Given the description of an element on the screen output the (x, y) to click on. 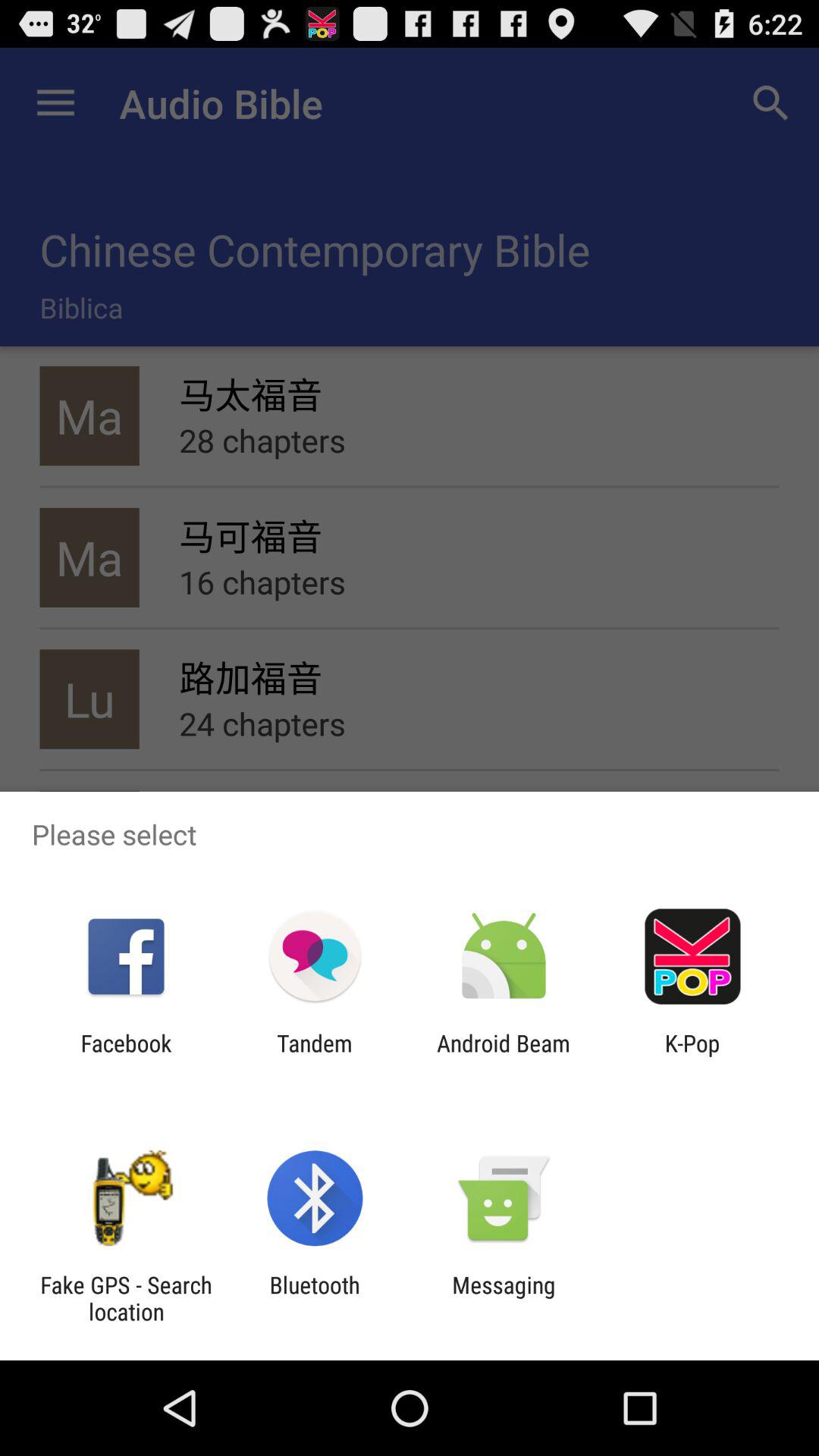
turn off the item next to the bluetooth icon (503, 1298)
